Given the description of an element on the screen output the (x, y) to click on. 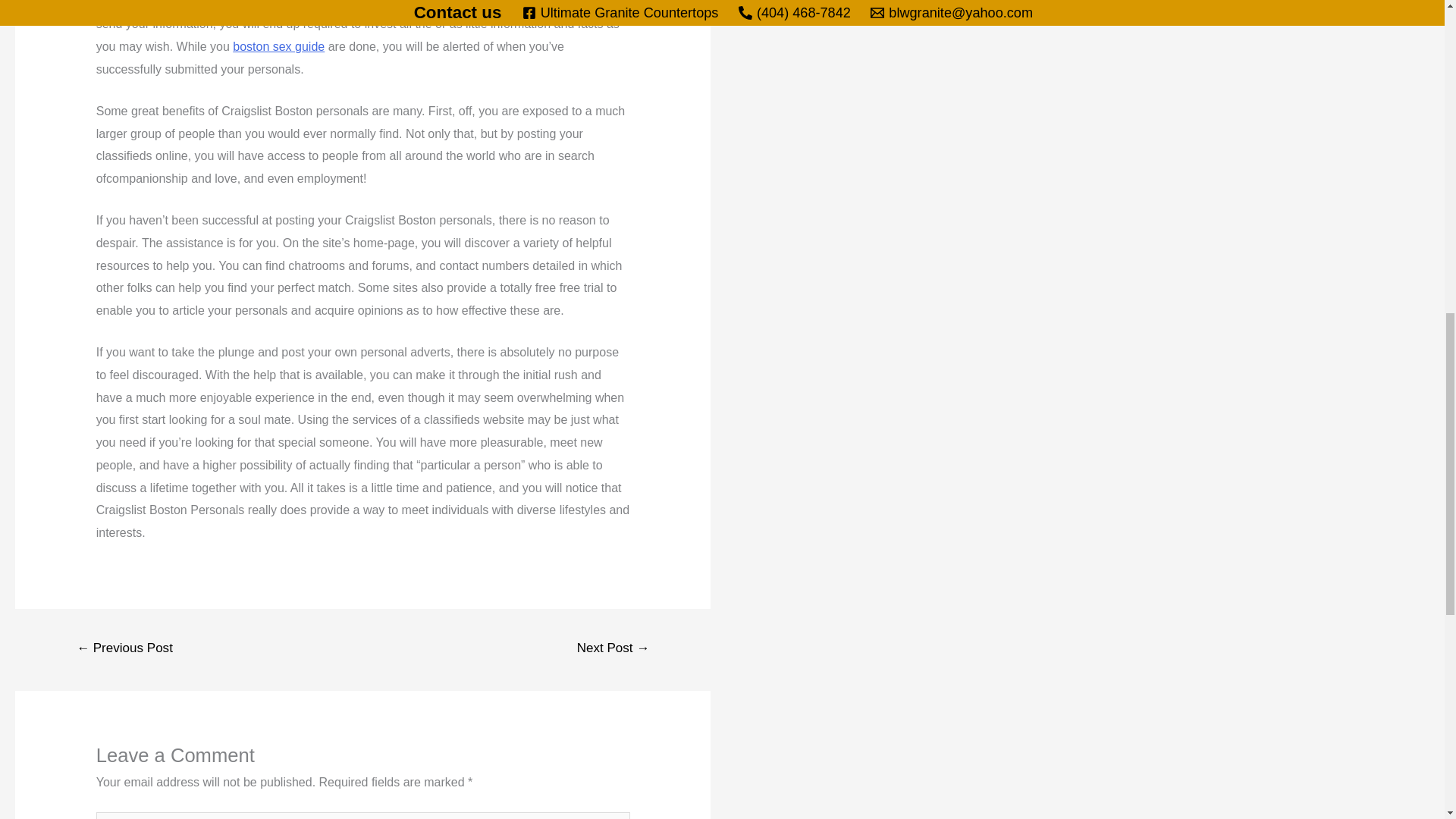
boston sex guide (278, 46)
